Given the description of an element on the screen output the (x, y) to click on. 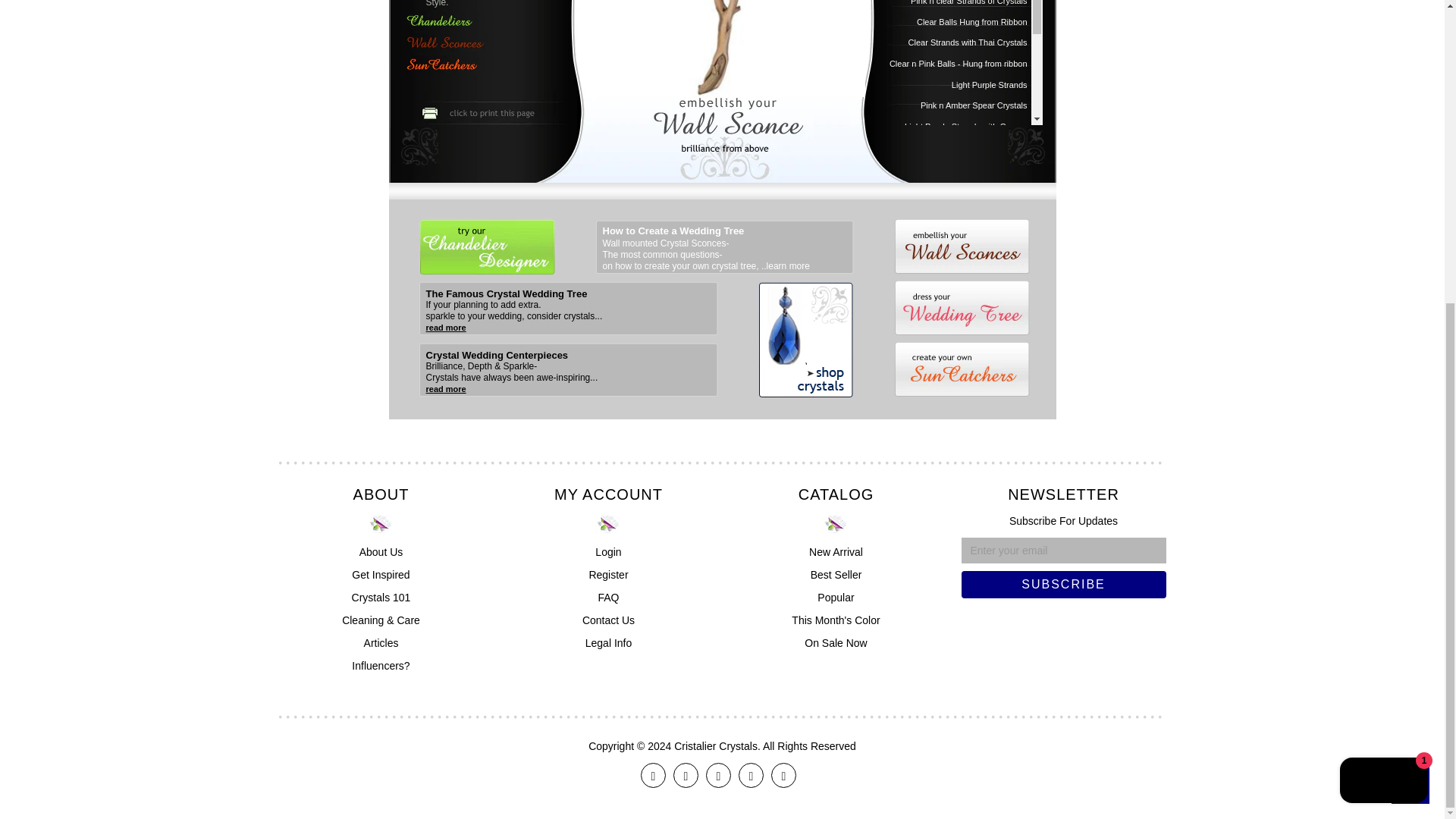
Scroll to Top (1410, 310)
Cristalier Crystals on Youtube (783, 774)
Cristalier Crystals on Instagram (750, 774)
Cristalier Crystals on Twitter (685, 774)
Shopify online store chat (1383, 307)
Cristalier Crystals on Pinterest (718, 774)
Cristalier Crystals on Facebook (652, 774)
